Given the description of an element on the screen output the (x, y) to click on. 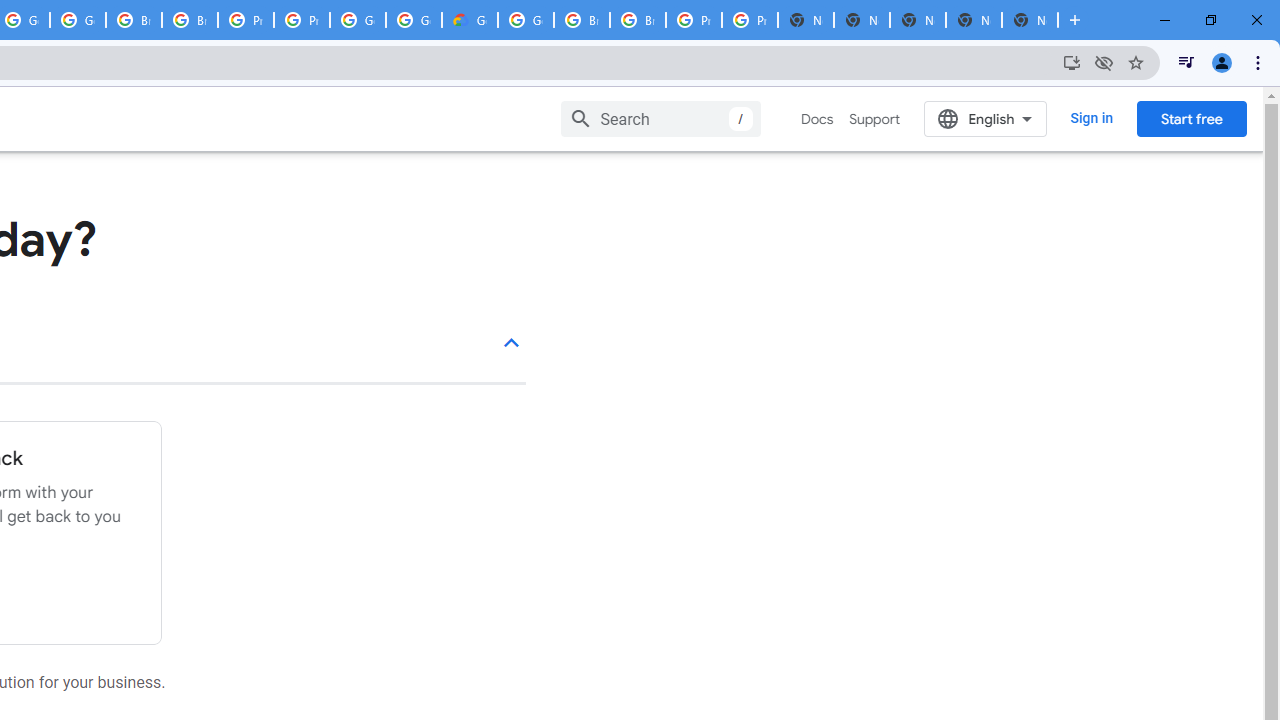
You (1221, 62)
Google Cloud Estimate Summary (469, 20)
Sign in (1092, 118)
Restore (1210, 20)
Browse Chrome as a guest - Computer - Google Chrome Help (134, 20)
Close (1256, 20)
Chrome (1260, 62)
Third-party cookies blocked (1103, 62)
Google Cloud Platform (358, 20)
New Tab (1075, 20)
Support (874, 119)
Browse Chrome as a guest - Computer - Google Chrome Help (189, 20)
